Given the description of an element on the screen output the (x, y) to click on. 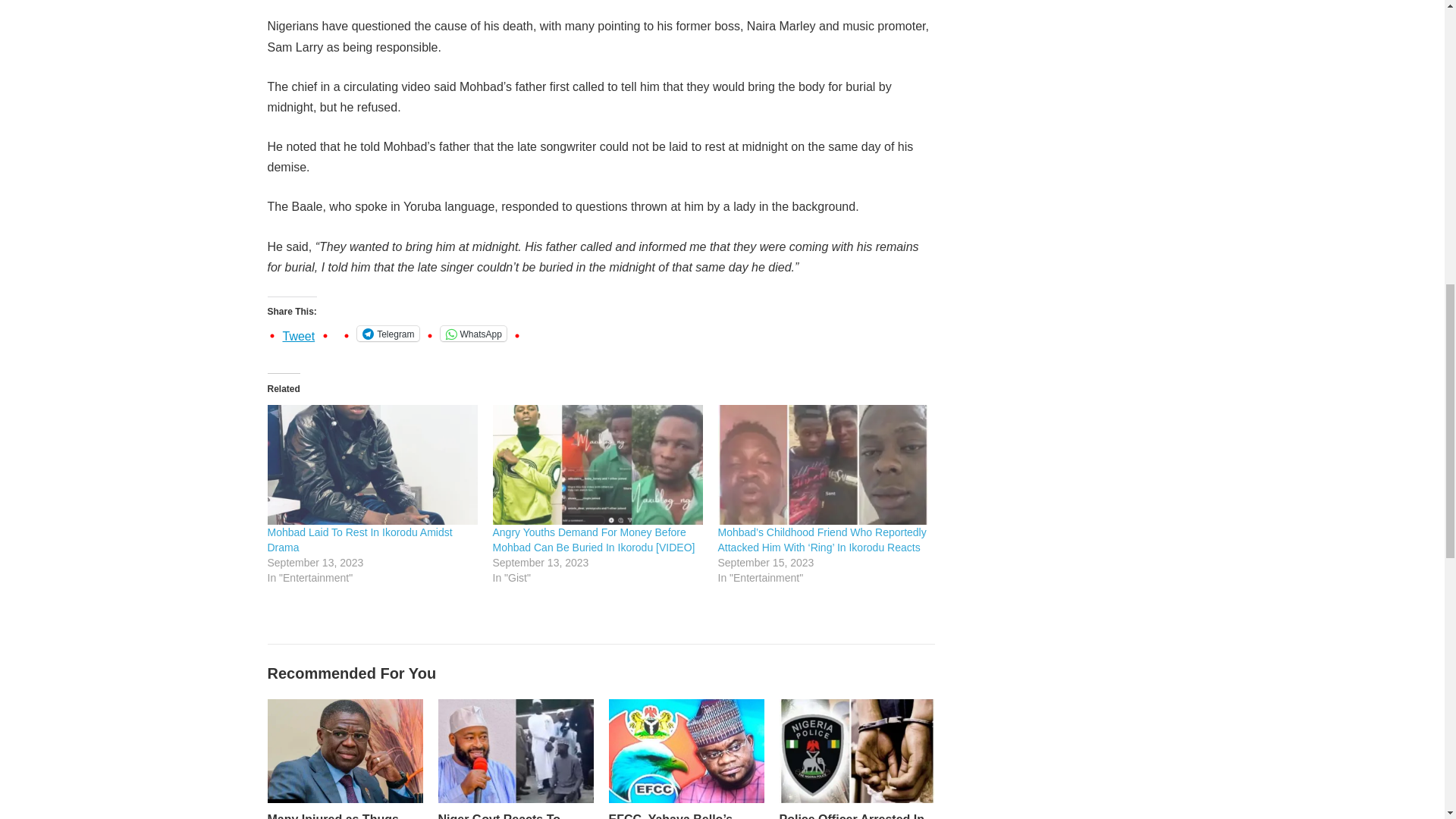
Tweet (298, 332)
Mohbad Laid To Rest In Ikorodu Amidst Drama (358, 539)
Telegram (387, 333)
Click to share on Telegram (387, 333)
Mohbad Laid To Rest In Ikorodu Amidst Drama (371, 464)
WhatsApp (473, 333)
Click to share on WhatsApp (473, 333)
